Given the description of an element on the screen output the (x, y) to click on. 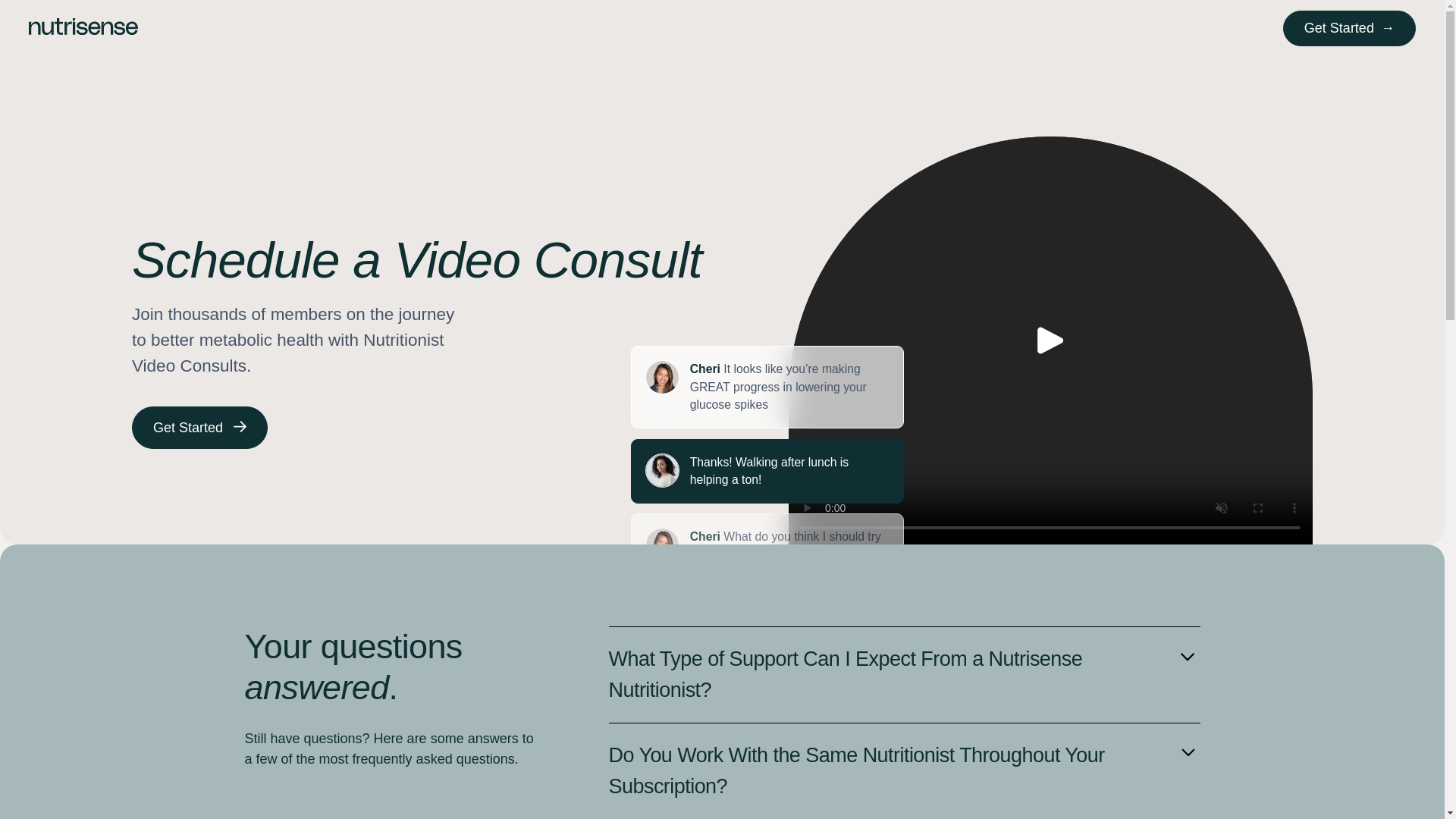
Get Started (1348, 27)
Get Started (199, 427)
